Given the description of an element on the screen output the (x, y) to click on. 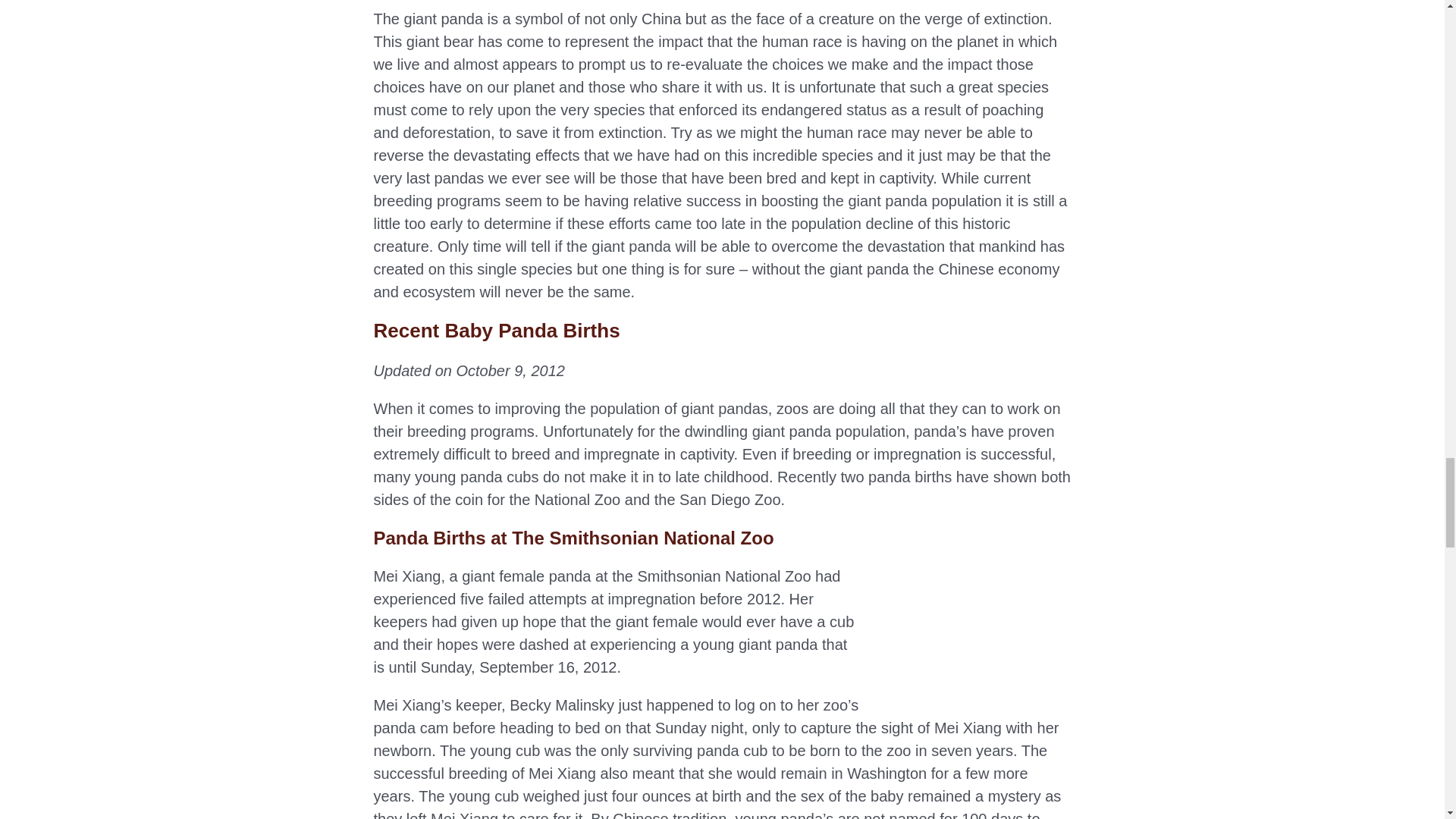
Why The Giant Panda Is Facing Extinction  (975, 632)
